Given the description of an element on the screen output the (x, y) to click on. 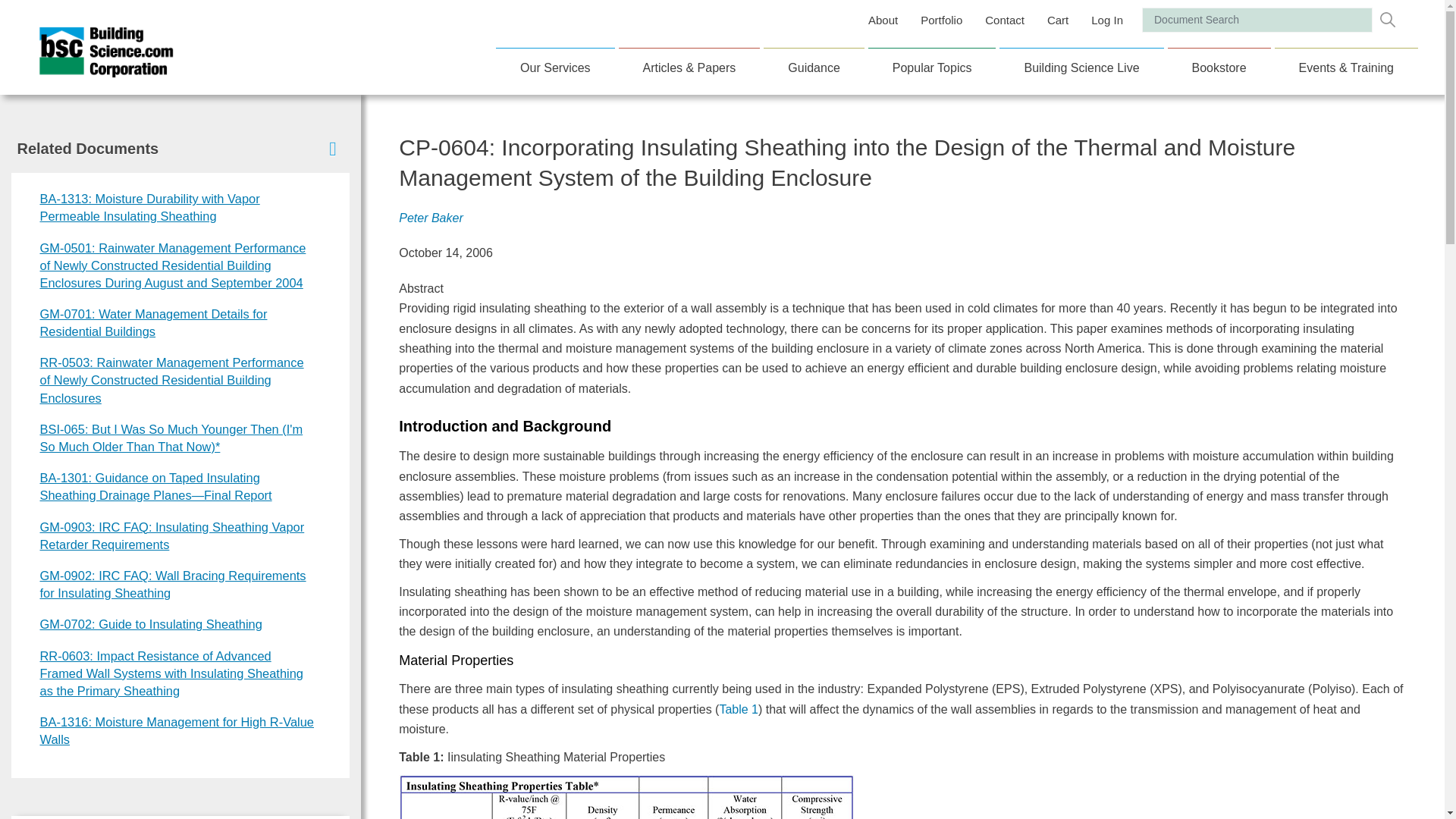
Home (106, 67)
Enter the terms you wish to search for. (1257, 19)
Portfolio (940, 20)
Log In (1107, 20)
About (882, 20)
Contact (1004, 20)
Cart (1057, 20)
